Given the description of an element on the screen output the (x, y) to click on. 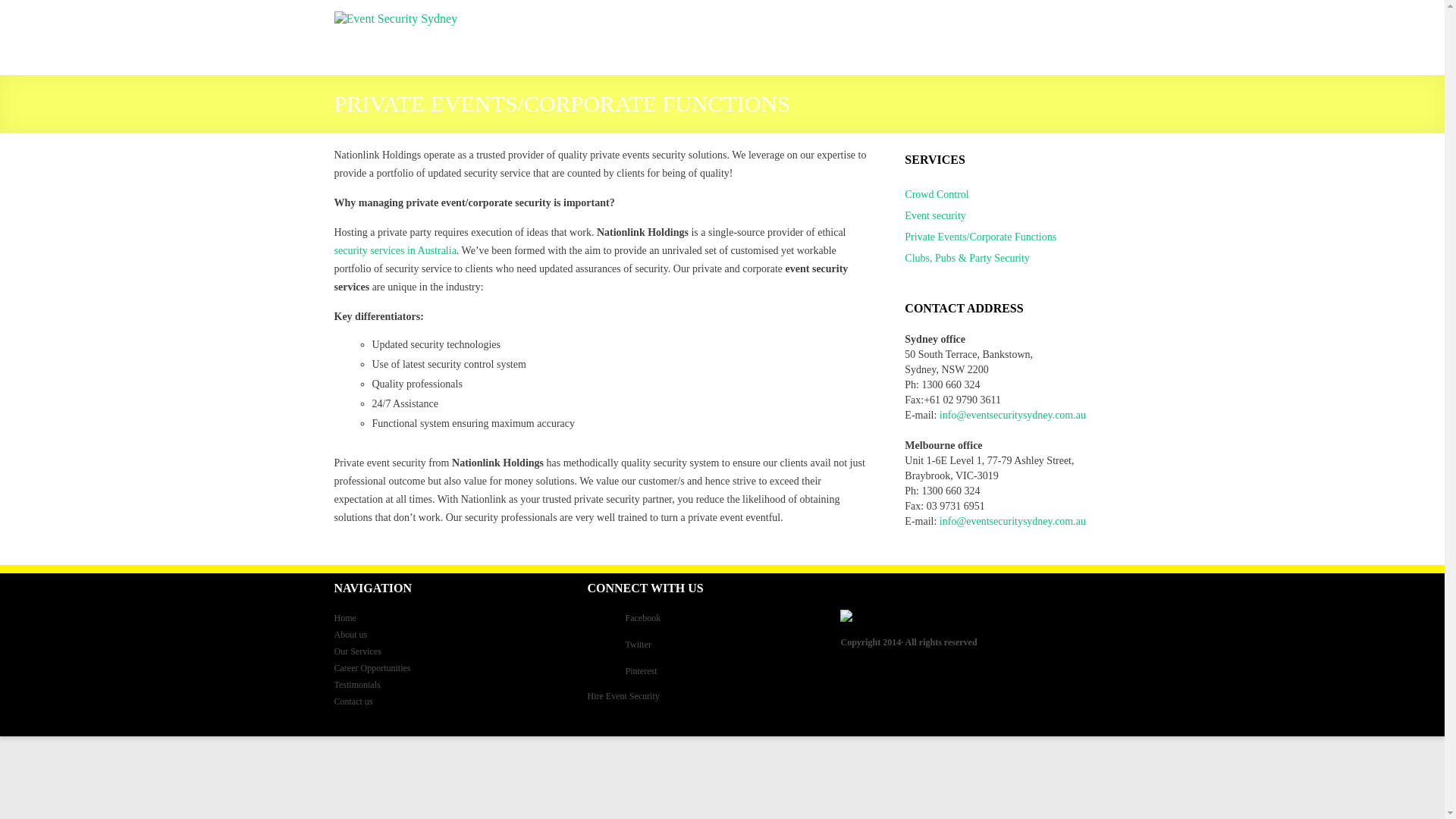
Pinterest (703, 675)
Hire Event Security (622, 696)
CONTACT US (1070, 49)
Home (344, 617)
About us (349, 634)
Security Services In Sydney (394, 250)
Our Services (356, 651)
Career Opportunities (371, 667)
TESTIMONIALS (984, 49)
CAREER OPPORTUNITIES (866, 49)
